Given the description of an element on the screen output the (x, y) to click on. 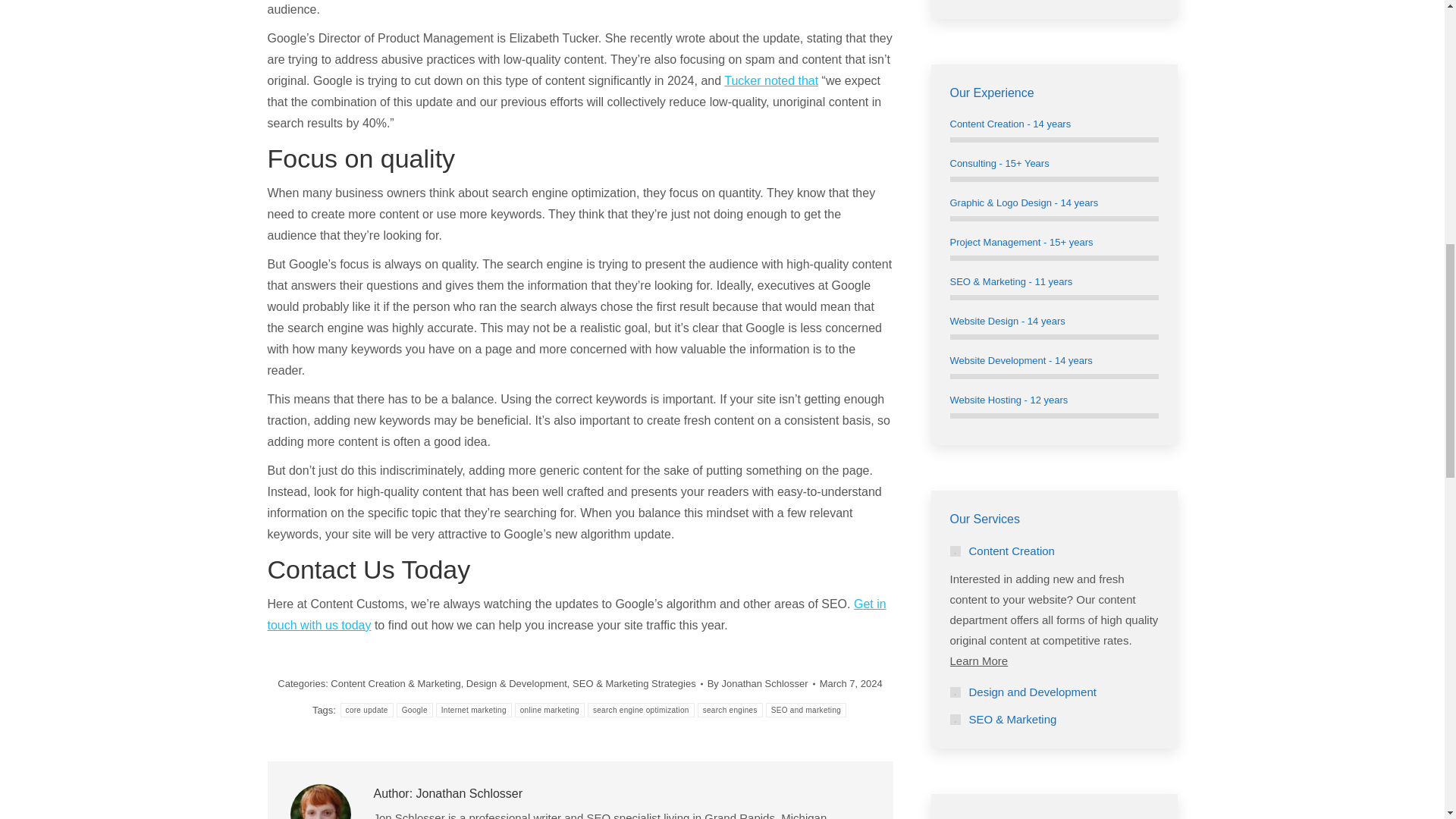
View all posts by Jonathan Schlosser (761, 683)
3:34 pm (850, 683)
